Given the description of an element on the screen output the (x, y) to click on. 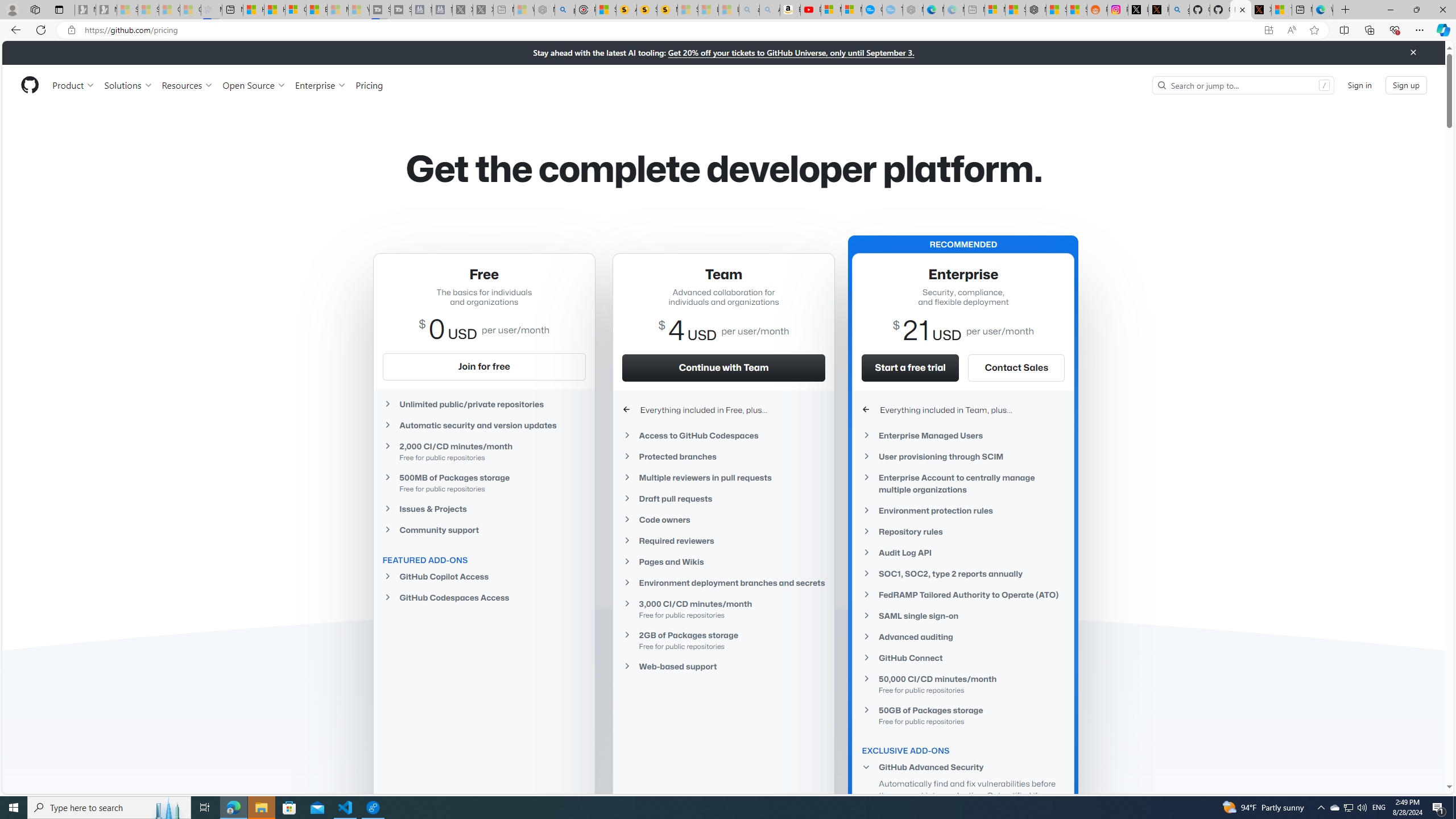
Day 1: Arriving in Yemen (surreal to be here) - YouTube (809, 9)
GitHub Connect (963, 658)
Audit Log API (963, 552)
Audit Log API (963, 552)
Community support (483, 529)
